Given the description of an element on the screen output the (x, y) to click on. 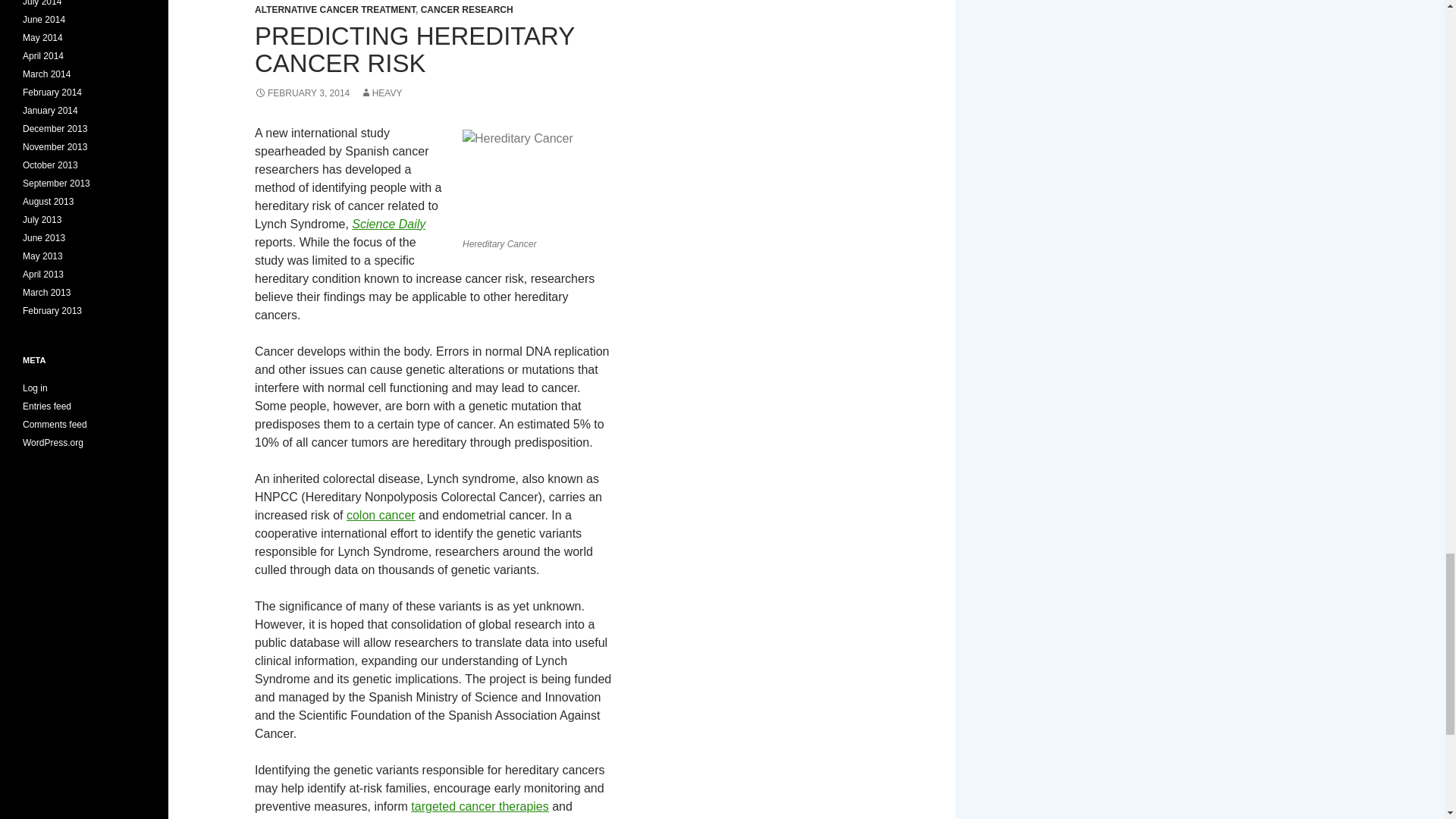
PREDICTING HEREDITARY CANCER RISK (414, 49)
ALTERNATIVE CANCER TREATMENT (334, 9)
CANCER RESEARCH (466, 9)
